Given the description of an element on the screen output the (x, y) to click on. 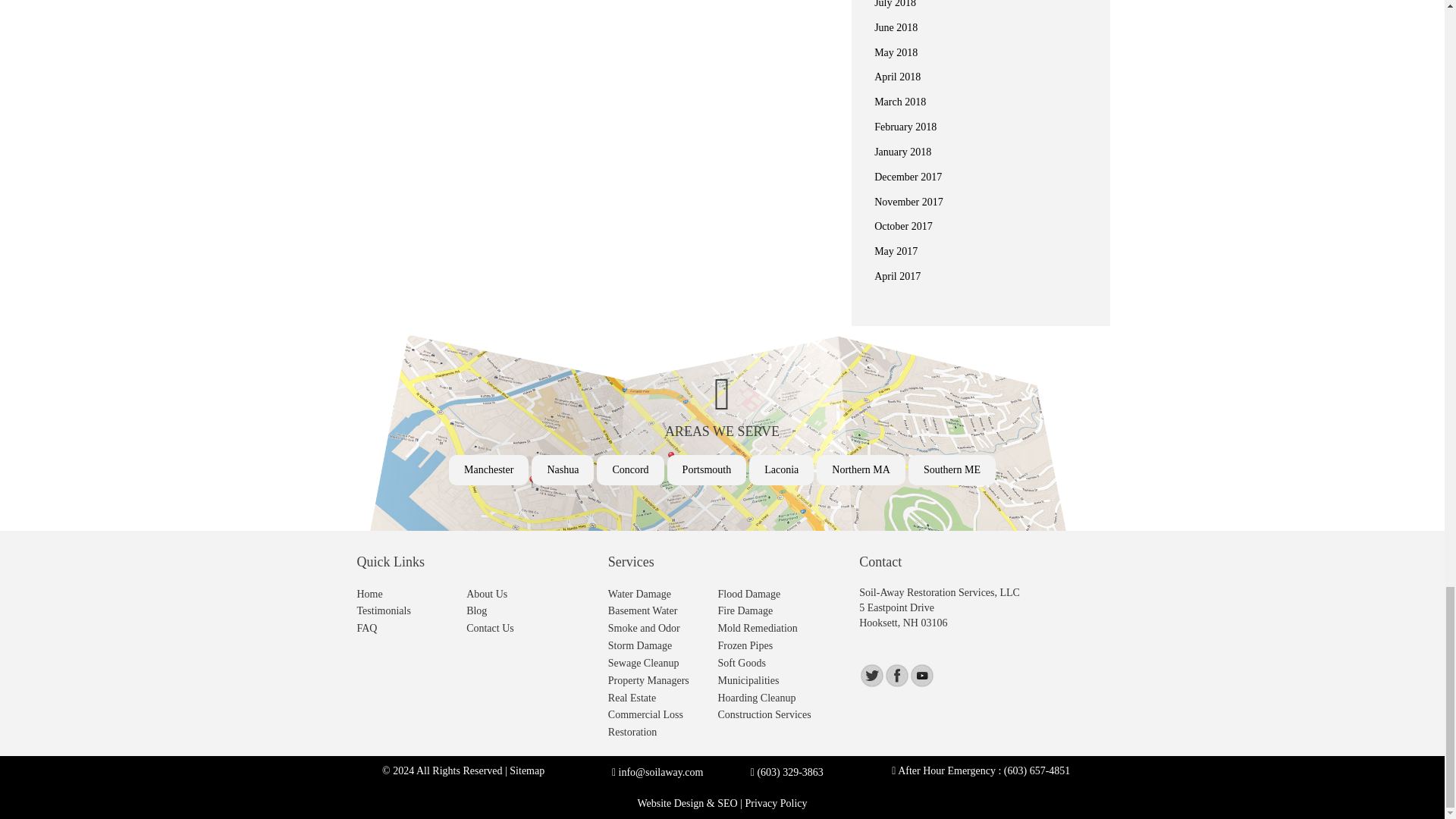
Visit Us On Youtube (921, 674)
Visit Us On Facebook (895, 674)
Visit Us On Twitter (871, 674)
